Given the description of an element on the screen output the (x, y) to click on. 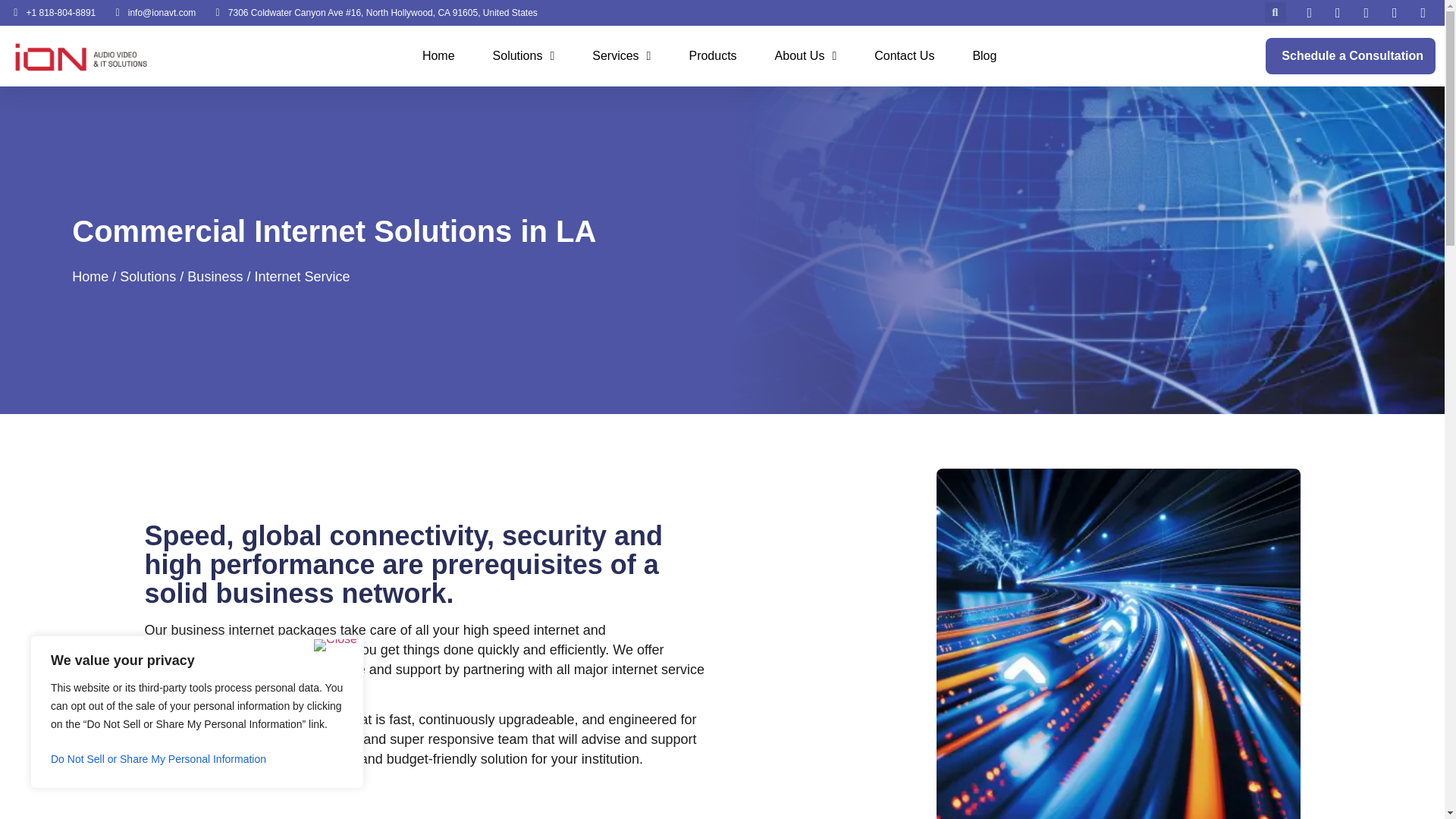
Solutions (523, 55)
Do Not Sell or Share My Personal Information (196, 759)
Home (438, 55)
Internet Service 1 (1118, 643)
